Given the description of an element on the screen output the (x, y) to click on. 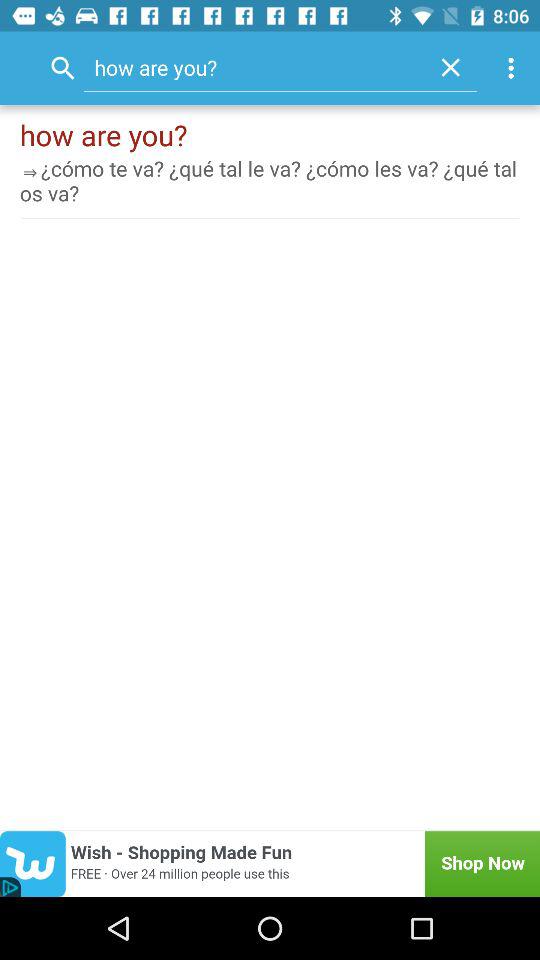
select item next to how are you? icon (450, 67)
